Given the description of an element on the screen output the (x, y) to click on. 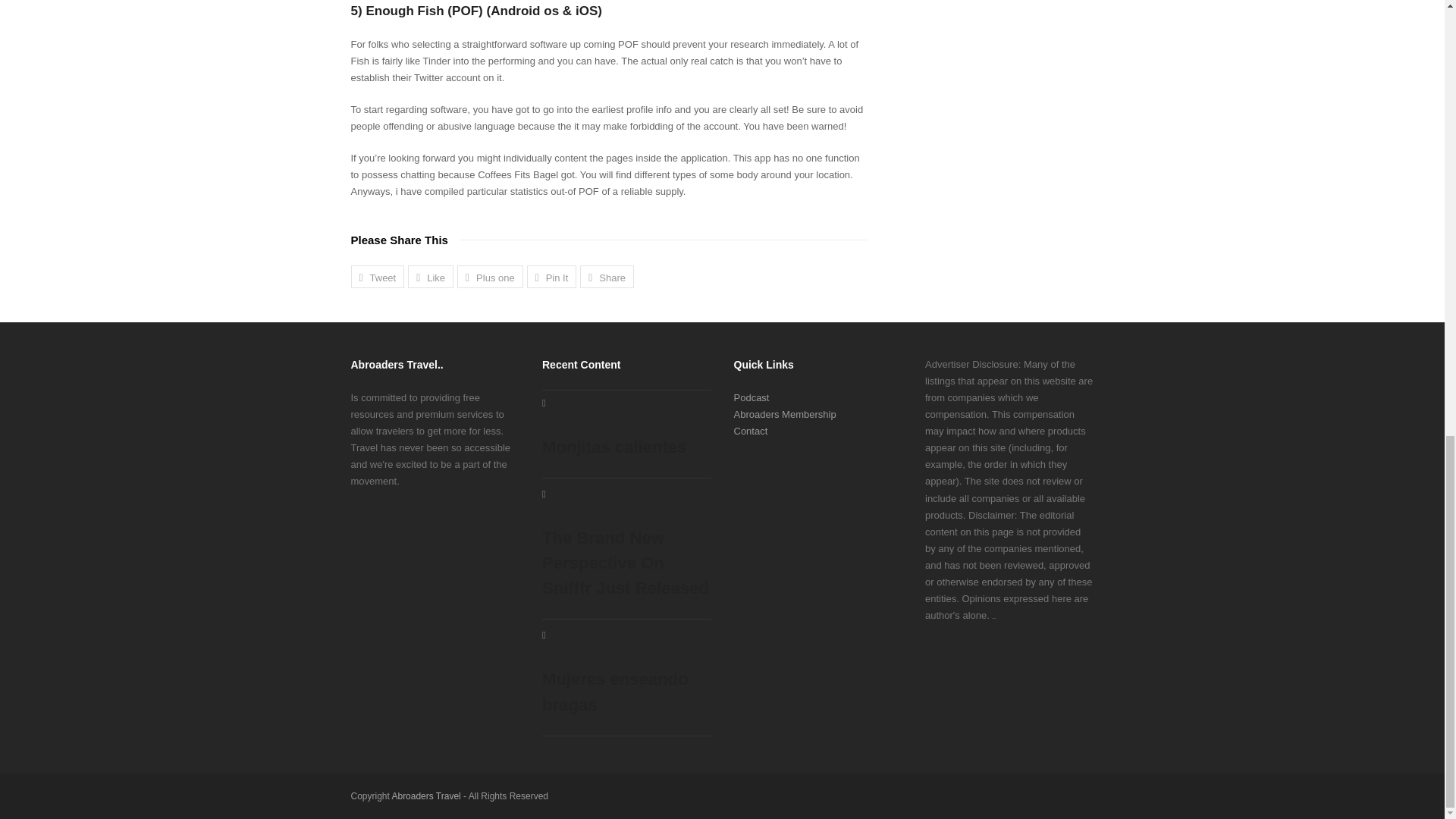
Share on LinkedIn (606, 276)
Share on Facebook (429, 276)
Mujeres enseando bragas (626, 672)
Share (606, 276)
Share on Pinterest (551, 276)
Tweet (377, 276)
Abroaders Membership (784, 414)
Plus one (489, 276)
Pin It (551, 276)
Monjitas calientes (626, 428)
